Given the description of an element on the screen output the (x, y) to click on. 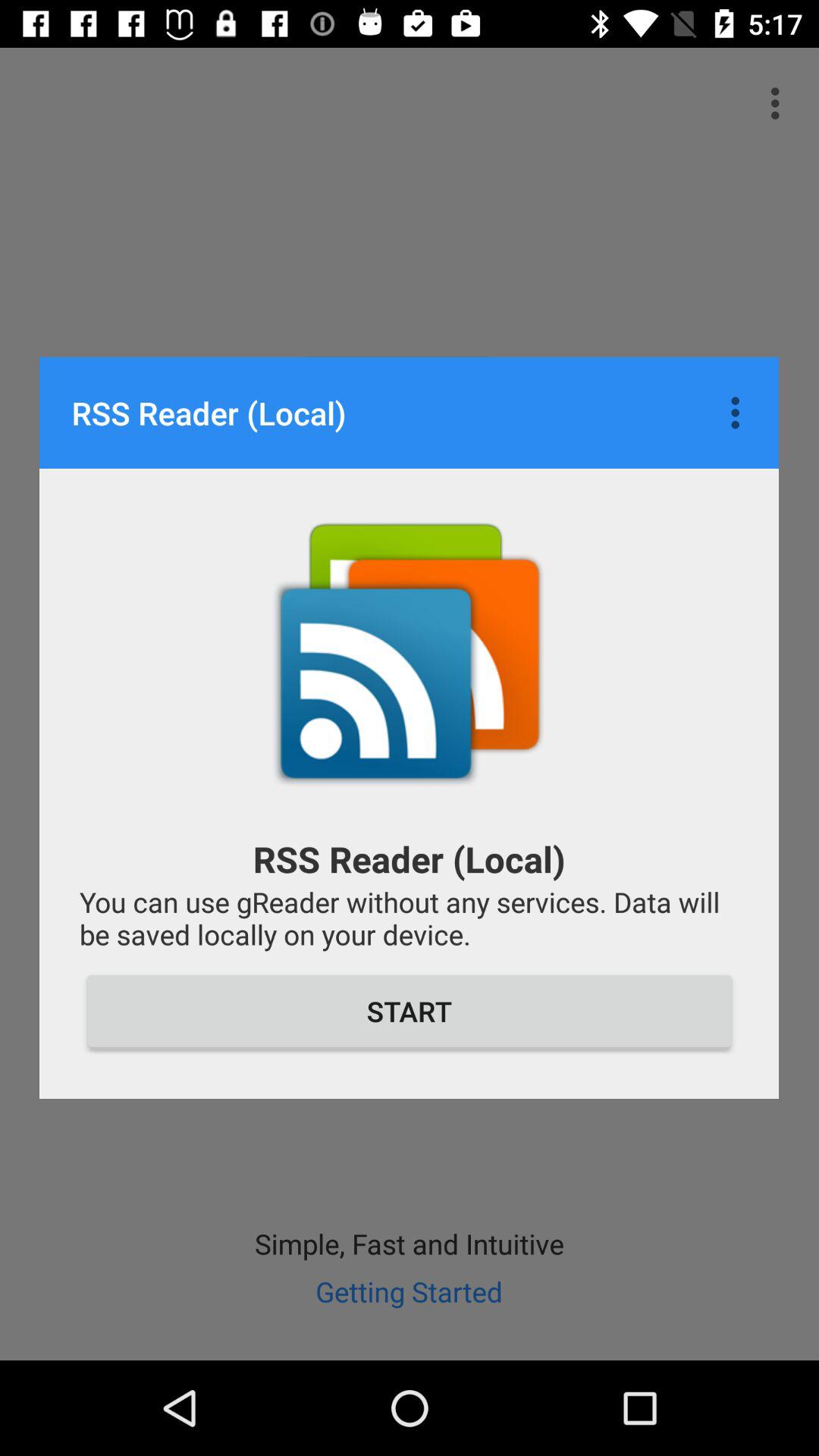
turn on the item at the top right corner (739, 412)
